Given the description of an element on the screen output the (x, y) to click on. 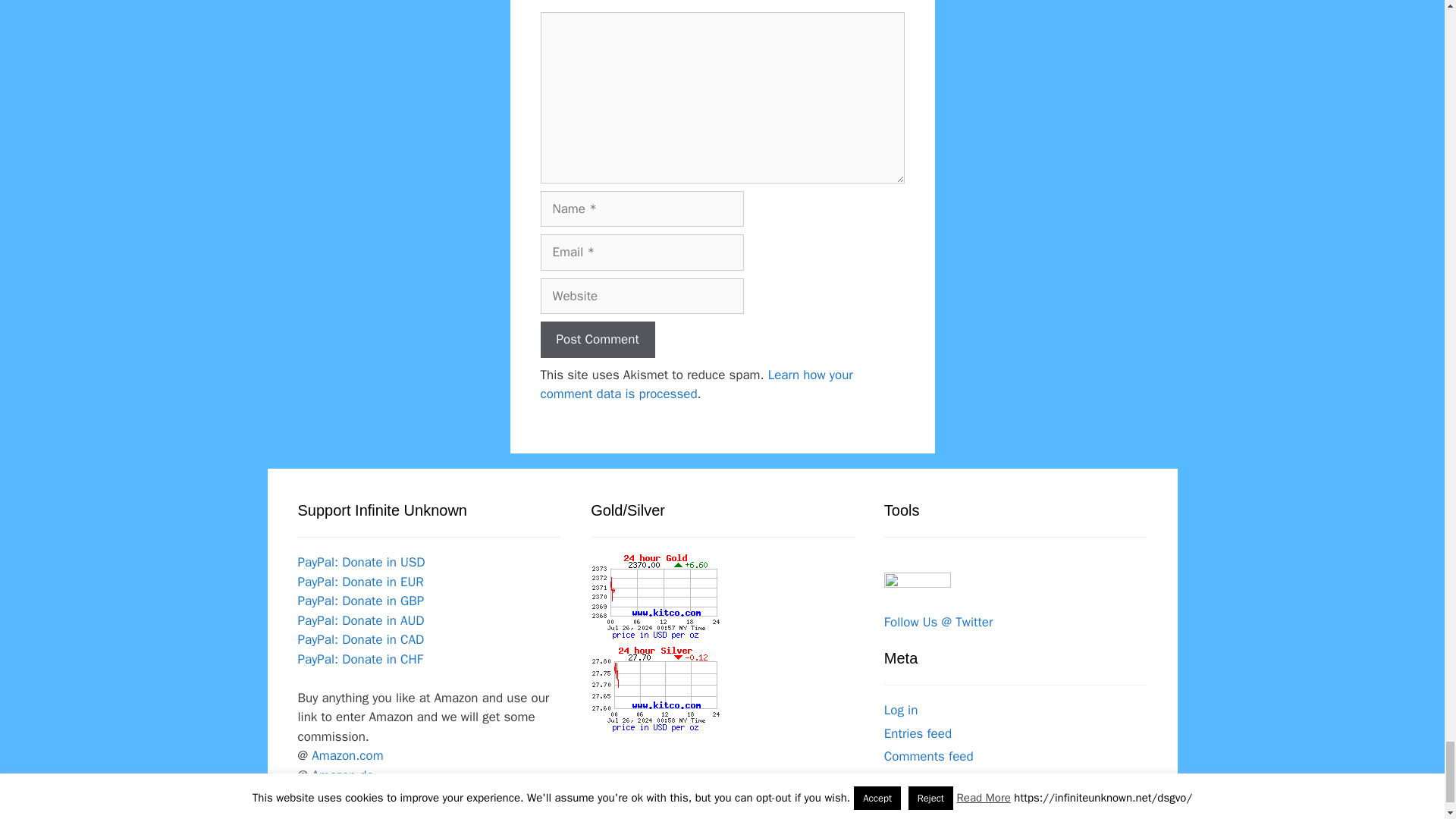
Post Comment (596, 339)
